Given the description of an element on the screen output the (x, y) to click on. 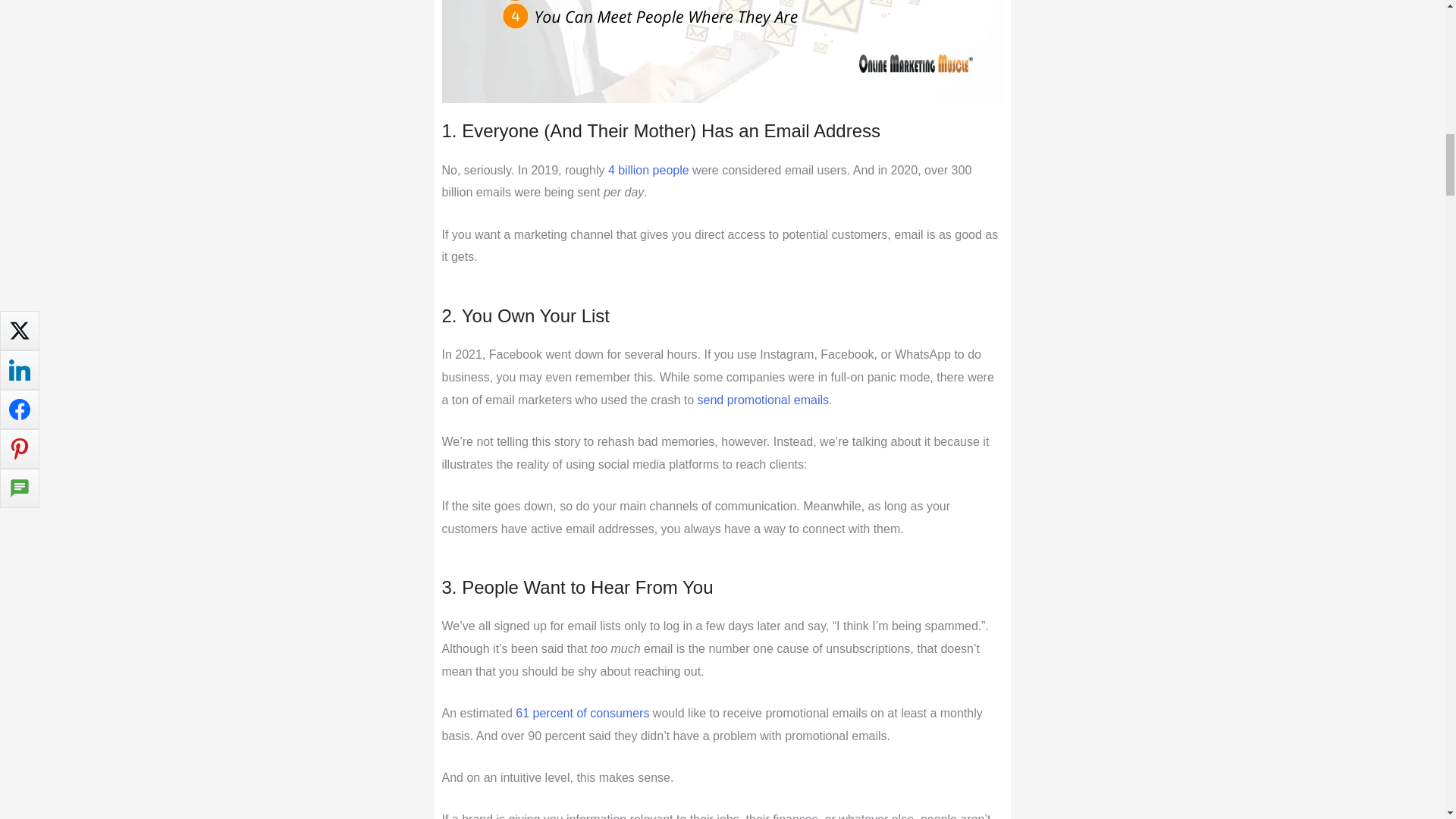
61 percent of consumers (582, 712)
4 billion people (648, 169)
send promotional emails (762, 399)
